Given the description of an element on the screen output the (x, y) to click on. 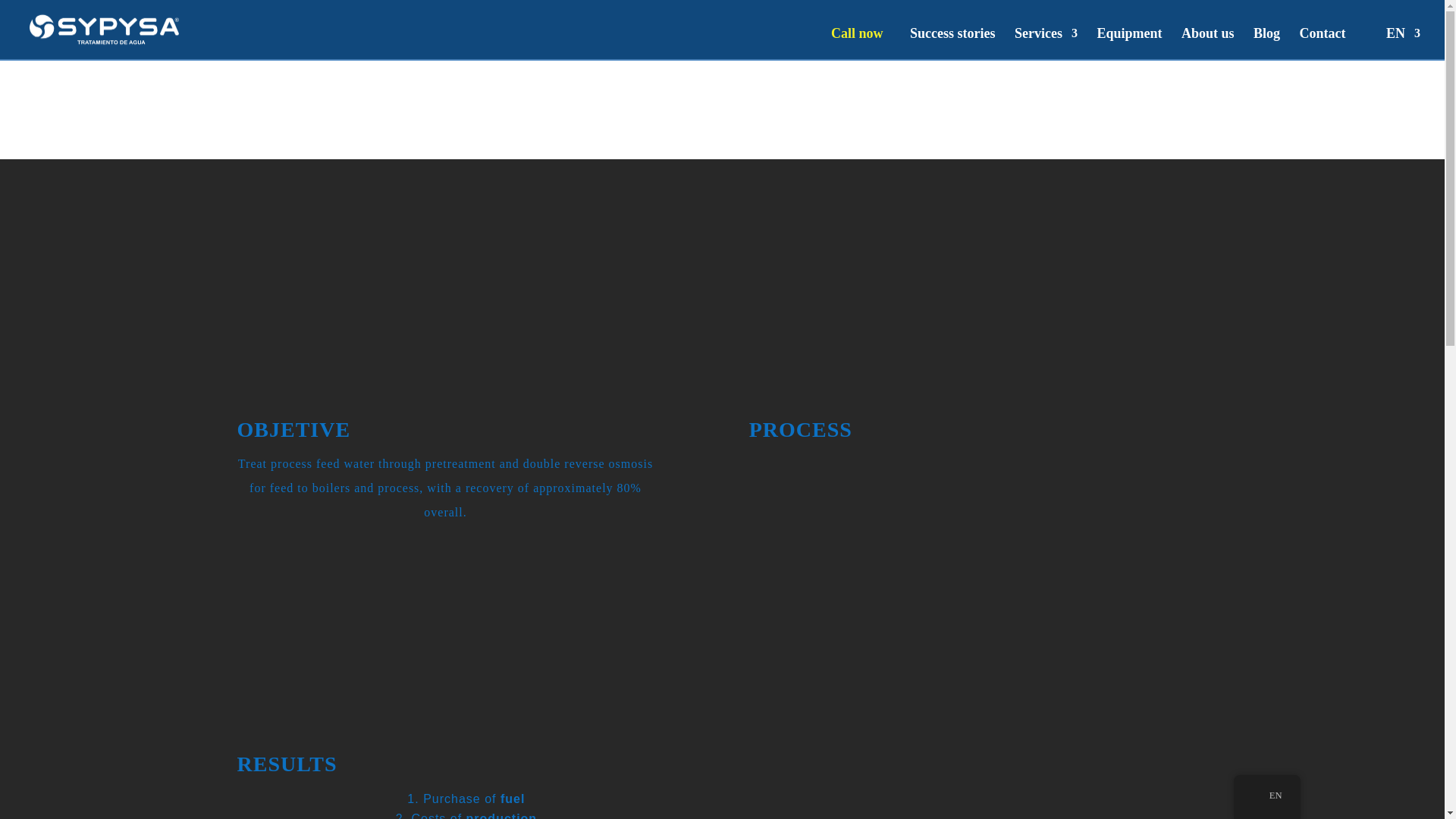
imagen-caso-de-exito (465, 575)
English (1258, 795)
EN (1266, 796)
Services (1045, 42)
EN (1393, 42)
Equipment (1128, 42)
Success stories (952, 42)
About us (1207, 42)
Call now (857, 32)
English (1374, 33)
Contact (1321, 42)
parametros-caso-de-exito (955, 769)
